Given the description of an element on the screen output the (x, y) to click on. 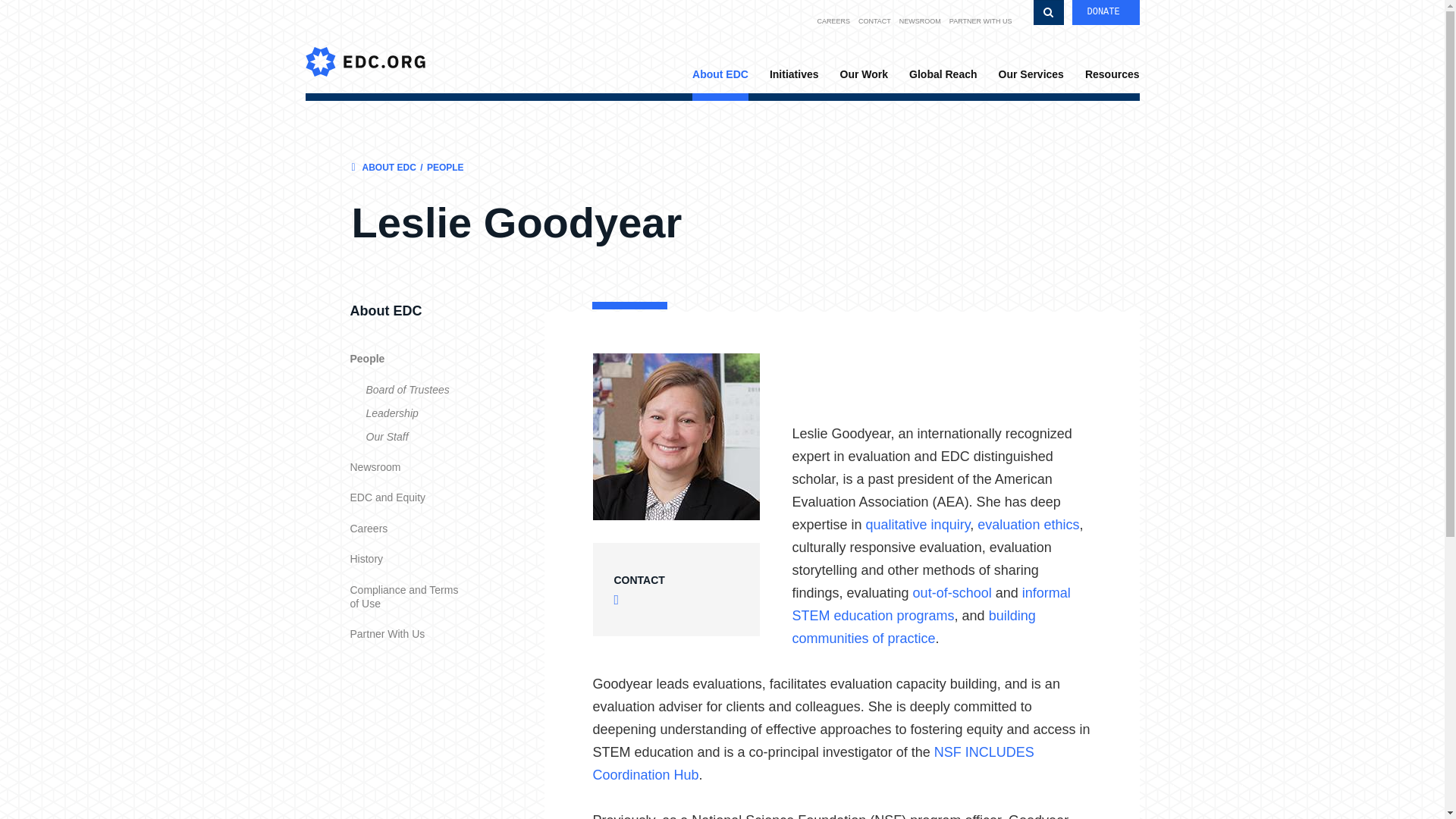
Initiatives (794, 76)
Home (364, 46)
Our Work (864, 76)
About EDC (720, 83)
